Given the description of an element on the screen output the (x, y) to click on. 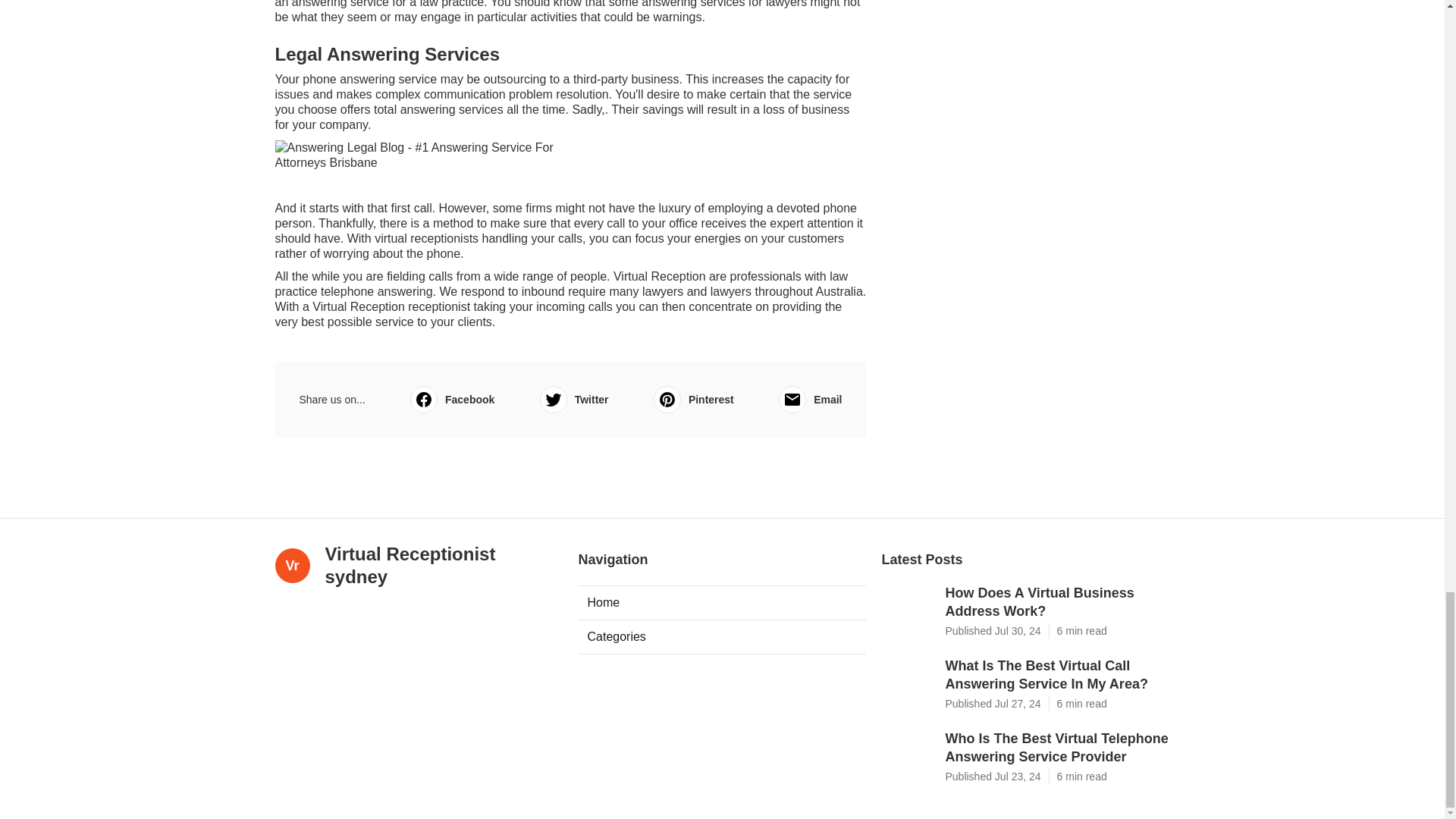
Facebook (452, 399)
Pinterest (693, 399)
Twitter (574, 399)
lawyers and lawyers (696, 291)
Email (809, 399)
